Given the description of an element on the screen output the (x, y) to click on. 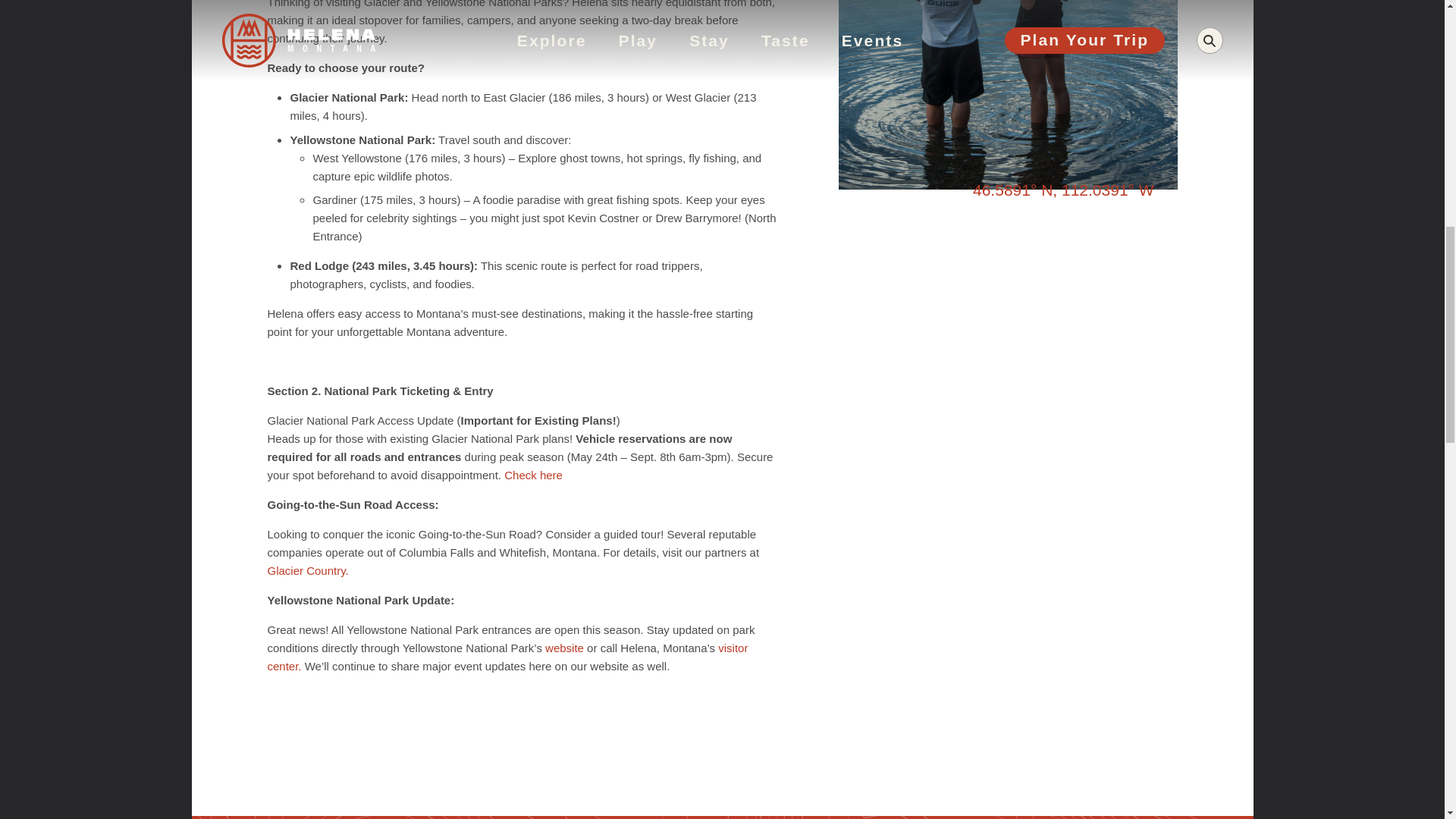
visitor center. (507, 656)
Glacier Country. (306, 570)
website (563, 647)
Check here (532, 474)
